Given the description of an element on the screen output the (x, y) to click on. 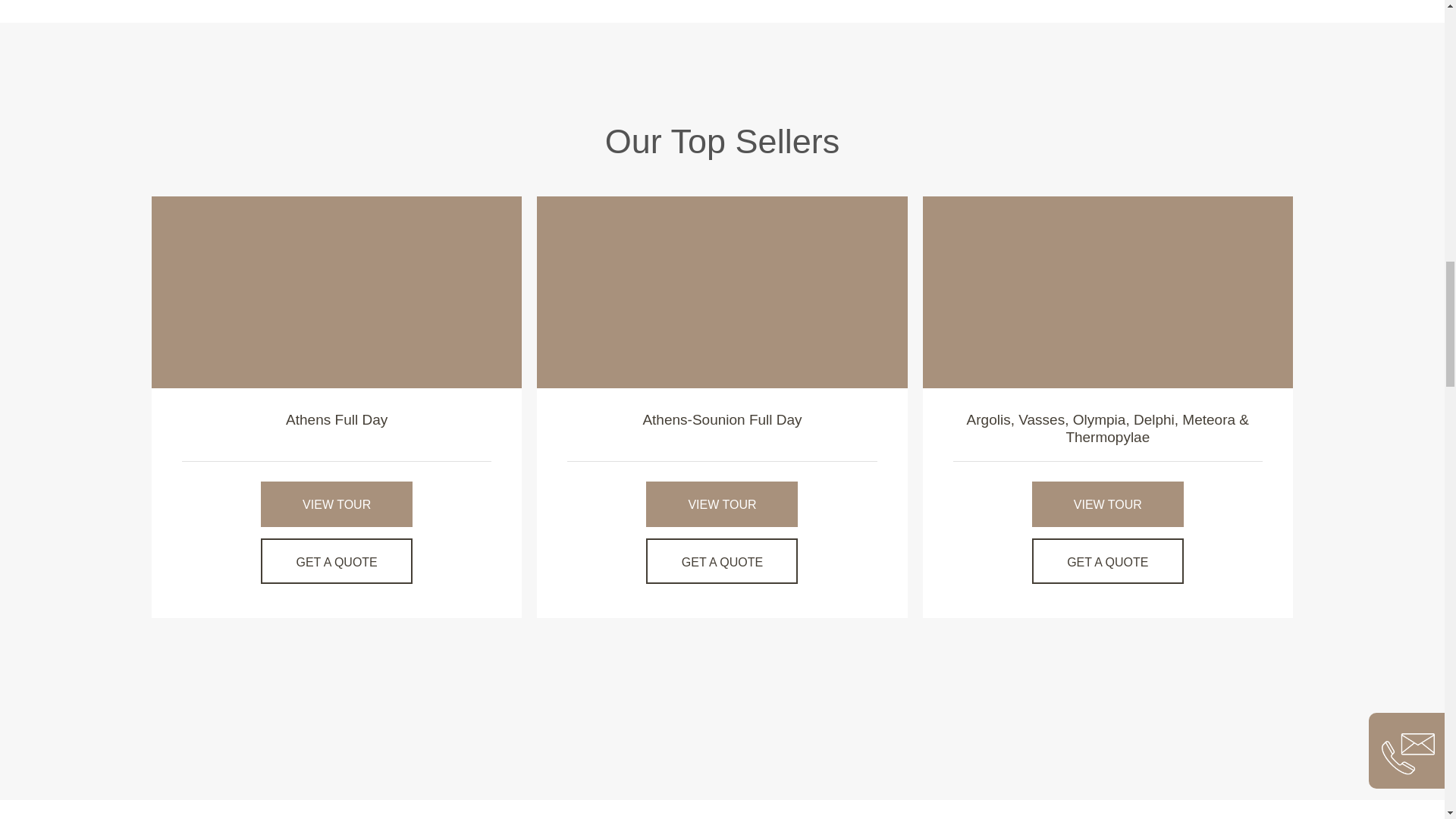
VIEW TOUR (721, 504)
GET A QUOTE (1107, 560)
GET A QUOTE (336, 560)
Athens Full Day (336, 291)
Athens-Sounion Full Day (722, 419)
Athens-Sounion Full Day (722, 419)
GET A QUOTE (721, 560)
Athens Full Day (336, 419)
VIEW TOUR (1107, 504)
VIEW TOUR (336, 504)
